Given the description of an element on the screen output the (x, y) to click on. 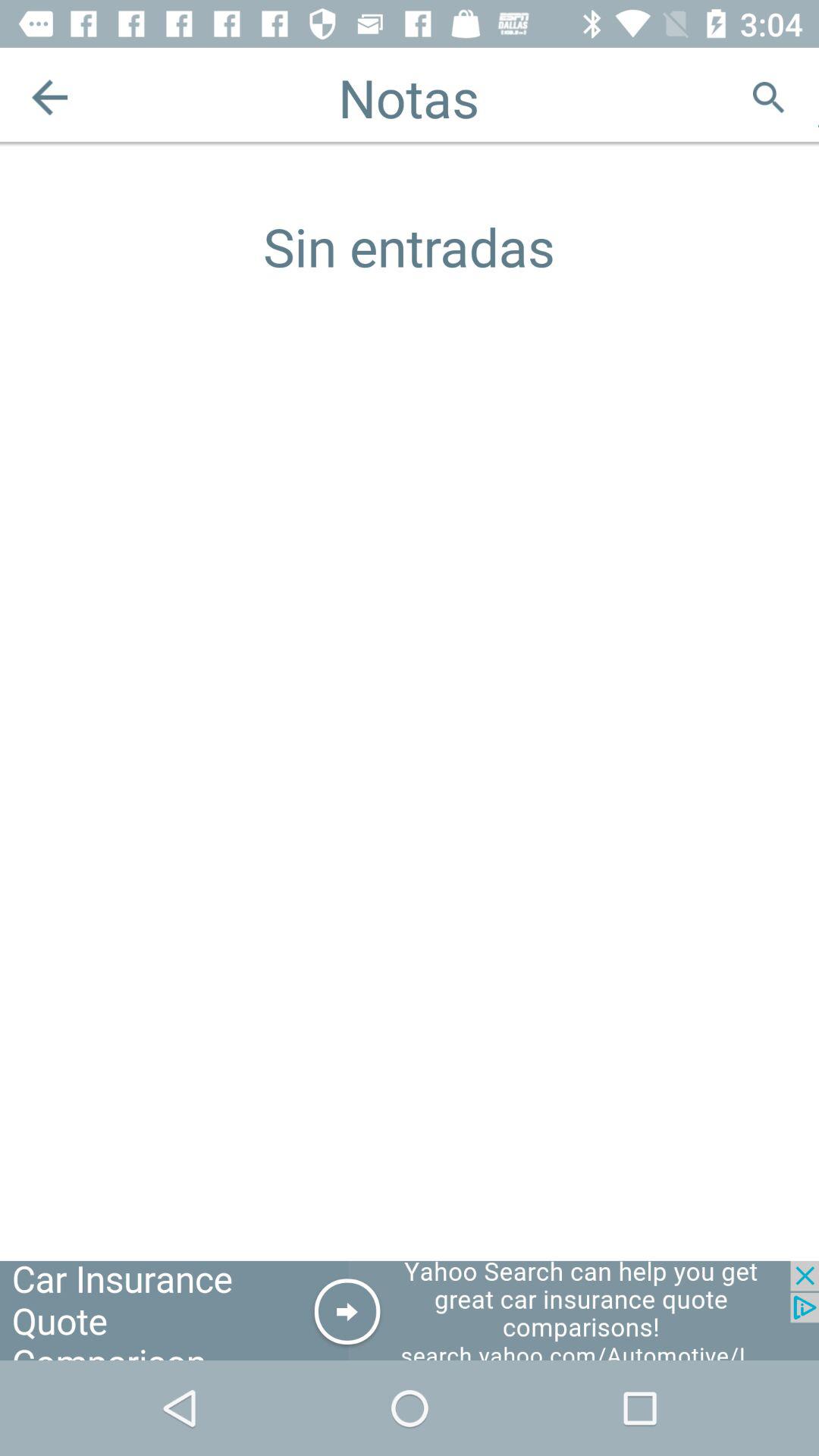
go back (49, 97)
